Given the description of an element on the screen output the (x, y) to click on. 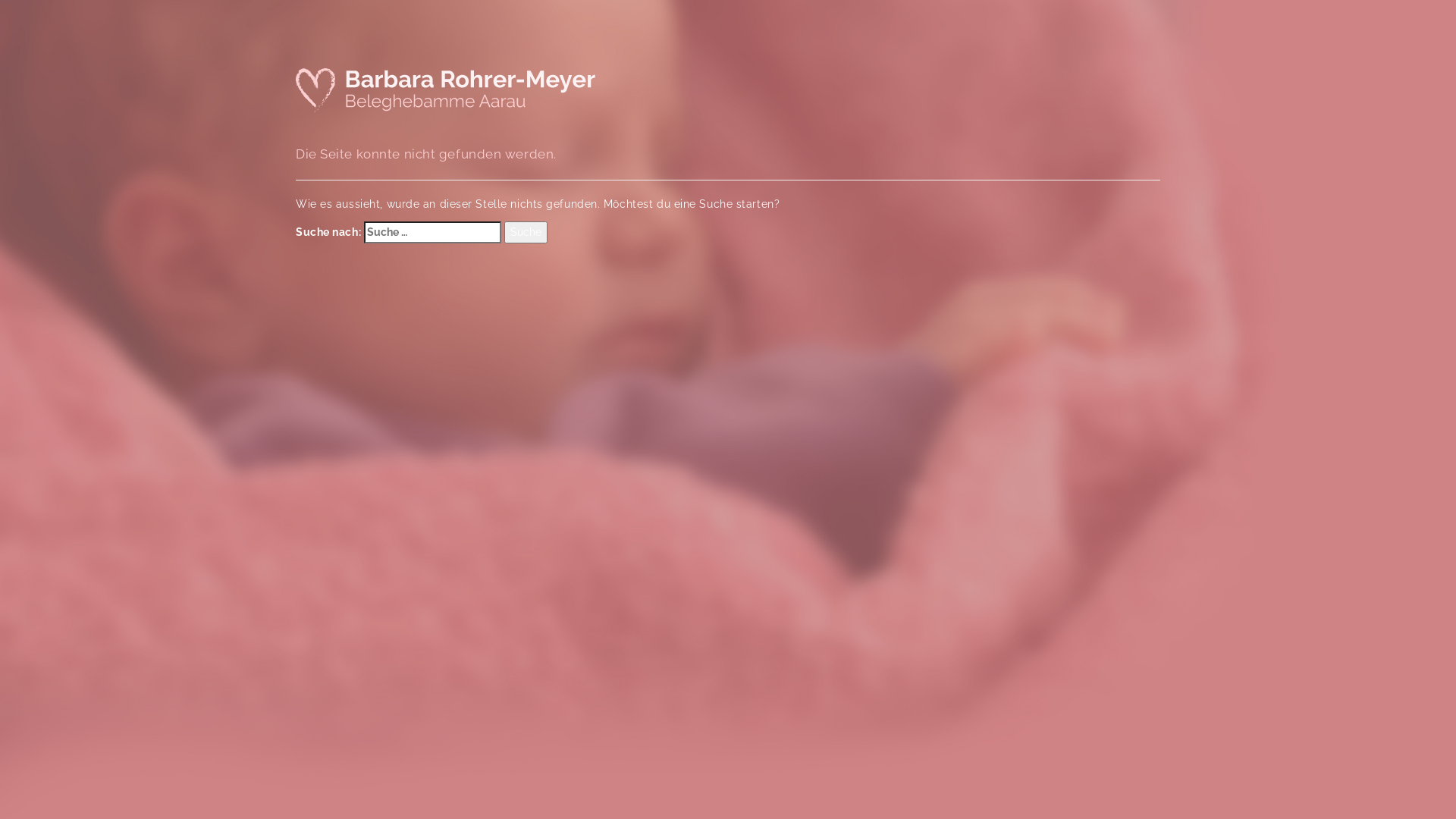
Suche Element type: text (525, 232)
